Given the description of an element on the screen output the (x, y) to click on. 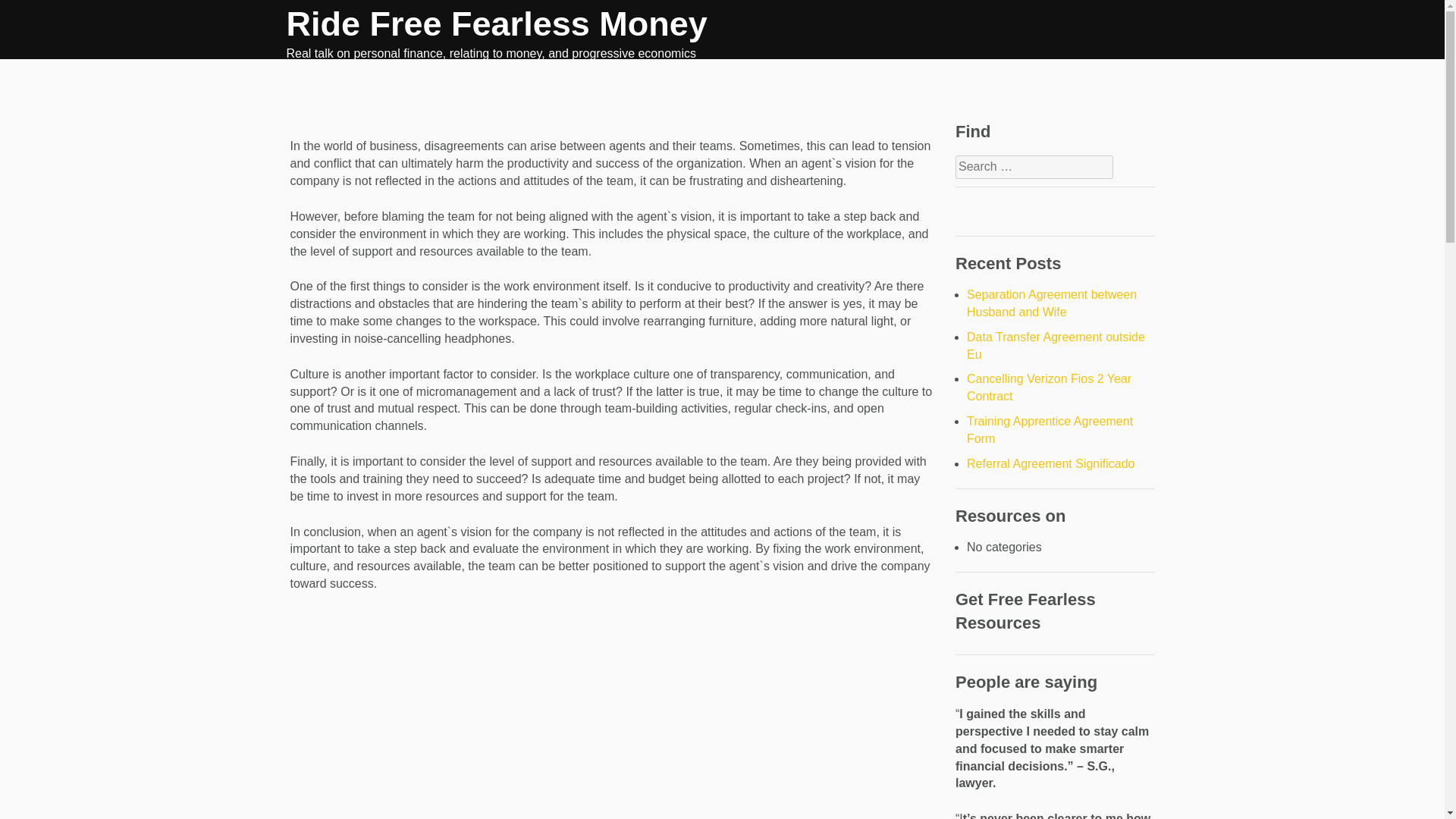
Separation Agreement between Husband and Wife (1051, 303)
Cancelling Verizon Fios 2 Year Contract (1048, 387)
Data Transfer Agreement outside Eu (1055, 345)
Ride Free Fearless Money (496, 23)
Training Apprentice Agreement Form (1049, 429)
Search (30, 16)
Referral Agreement Significado (1050, 463)
